Given the description of an element on the screen output the (x, y) to click on. 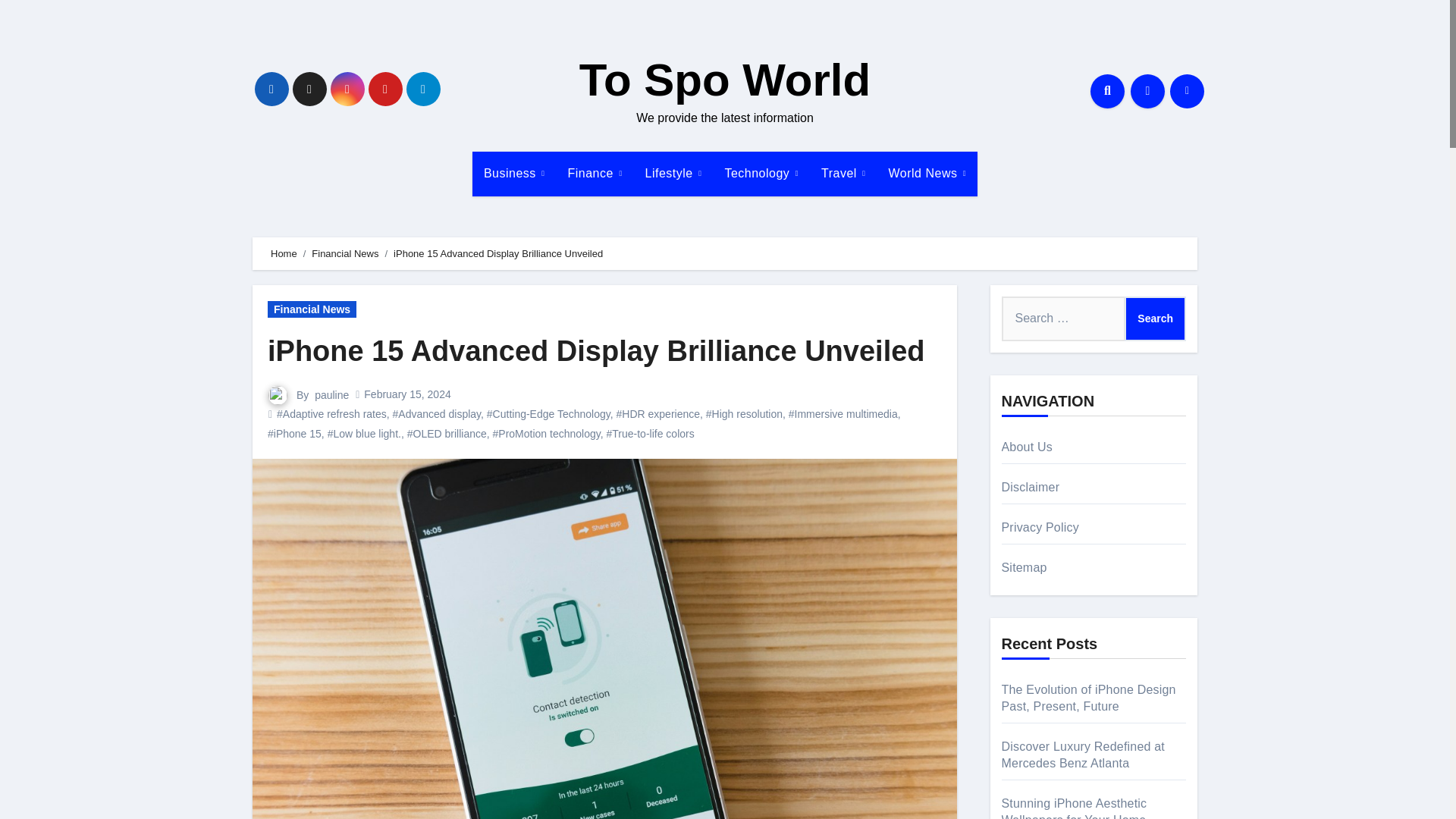
Search (1155, 318)
Technology (761, 173)
Lifestyle (673, 173)
Lifestyle (673, 173)
Travel (843, 173)
Technology (761, 173)
Business (513, 173)
Finance (594, 173)
Business (513, 173)
To Spo World (724, 79)
